Given the description of an element on the screen output the (x, y) to click on. 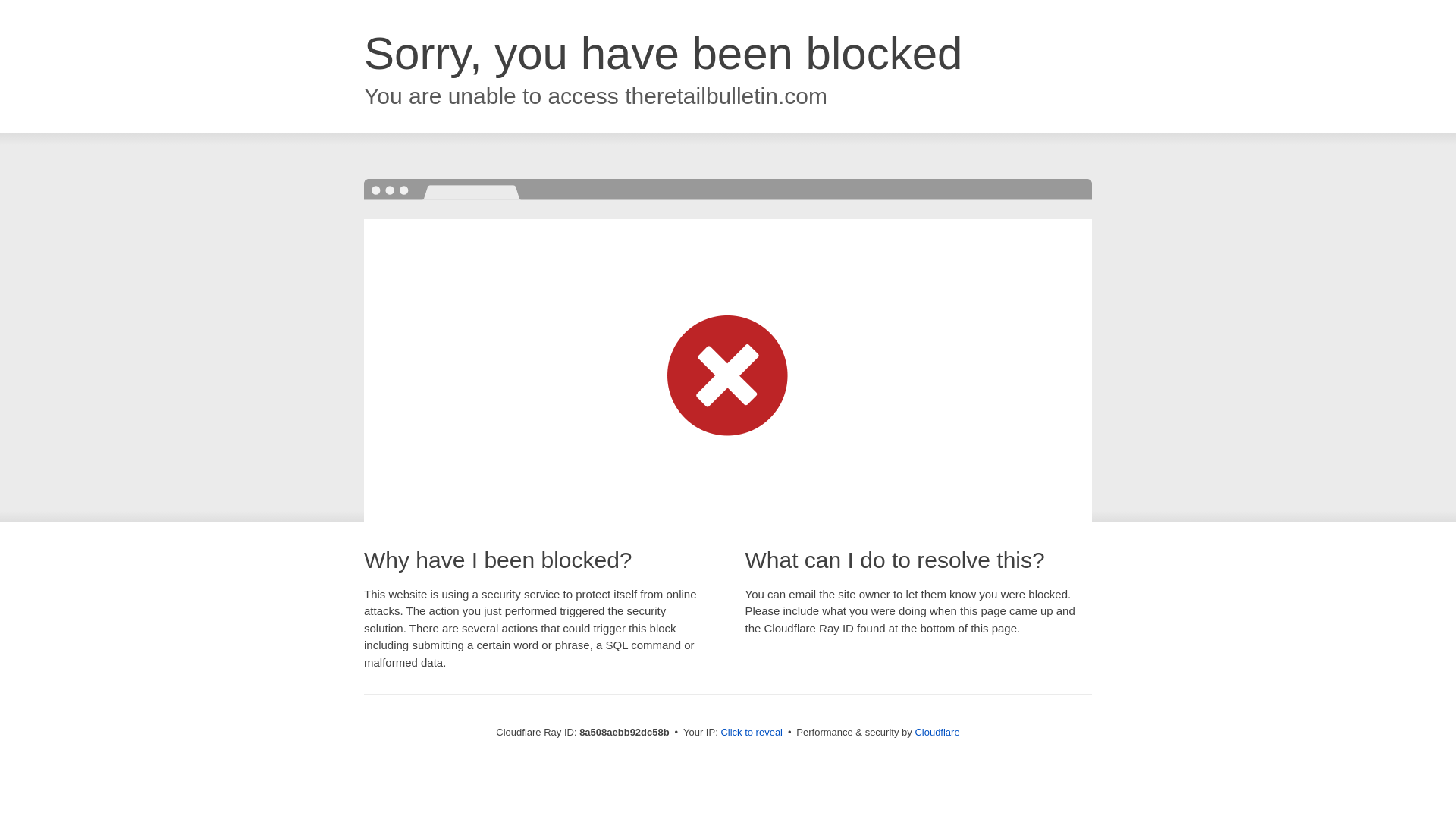
Cloudflare (936, 731)
Click to reveal (751, 732)
